Given the description of an element on the screen output the (x, y) to click on. 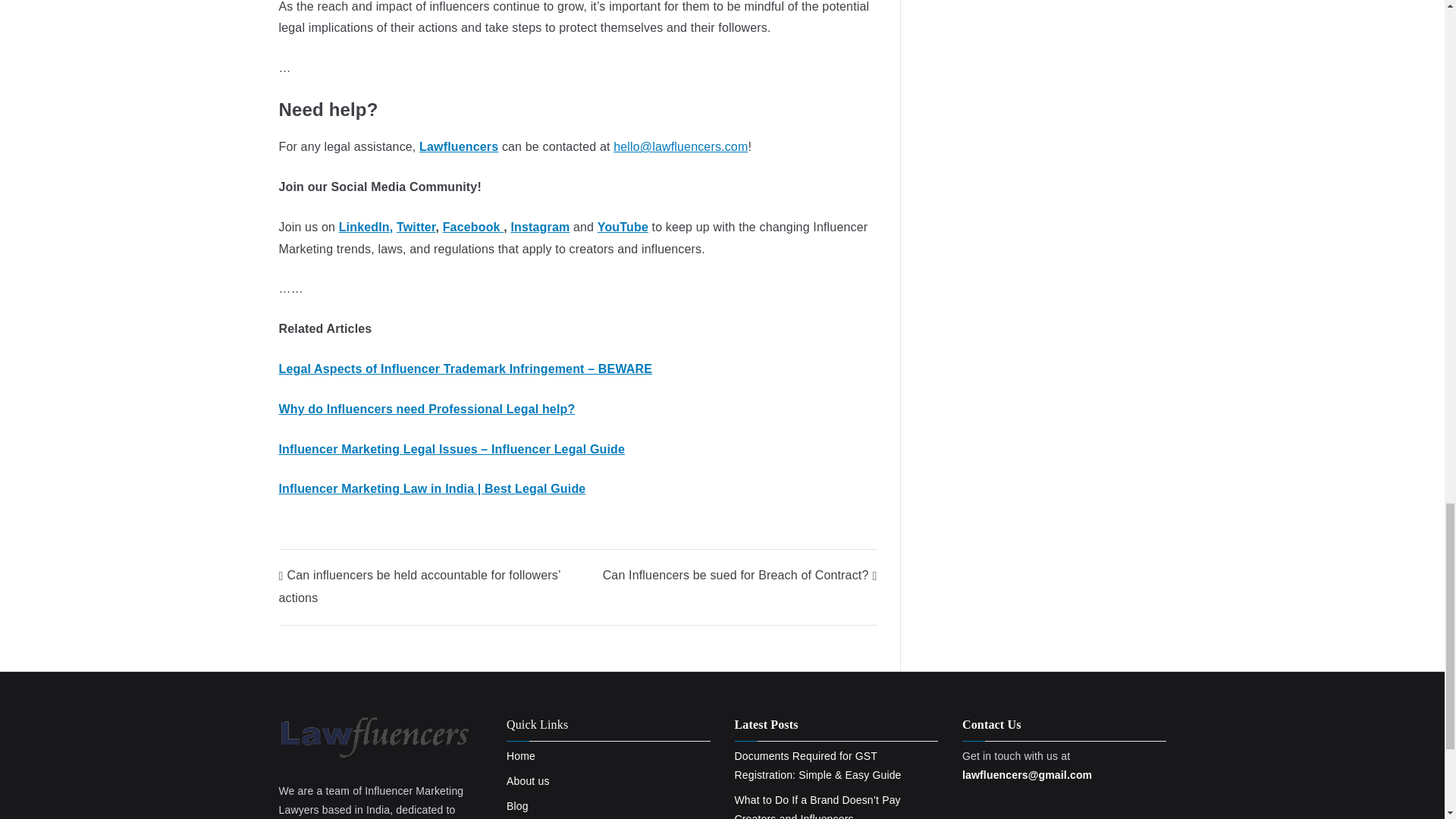
Twitter (415, 226)
Why do Influencers need Professional Legal help? (427, 408)
YouTube (621, 226)
Lawfluencers (458, 146)
Facebook  (472, 226)
Instagram (540, 226)
LinkedIn, (366, 226)
